Given the description of an element on the screen output the (x, y) to click on. 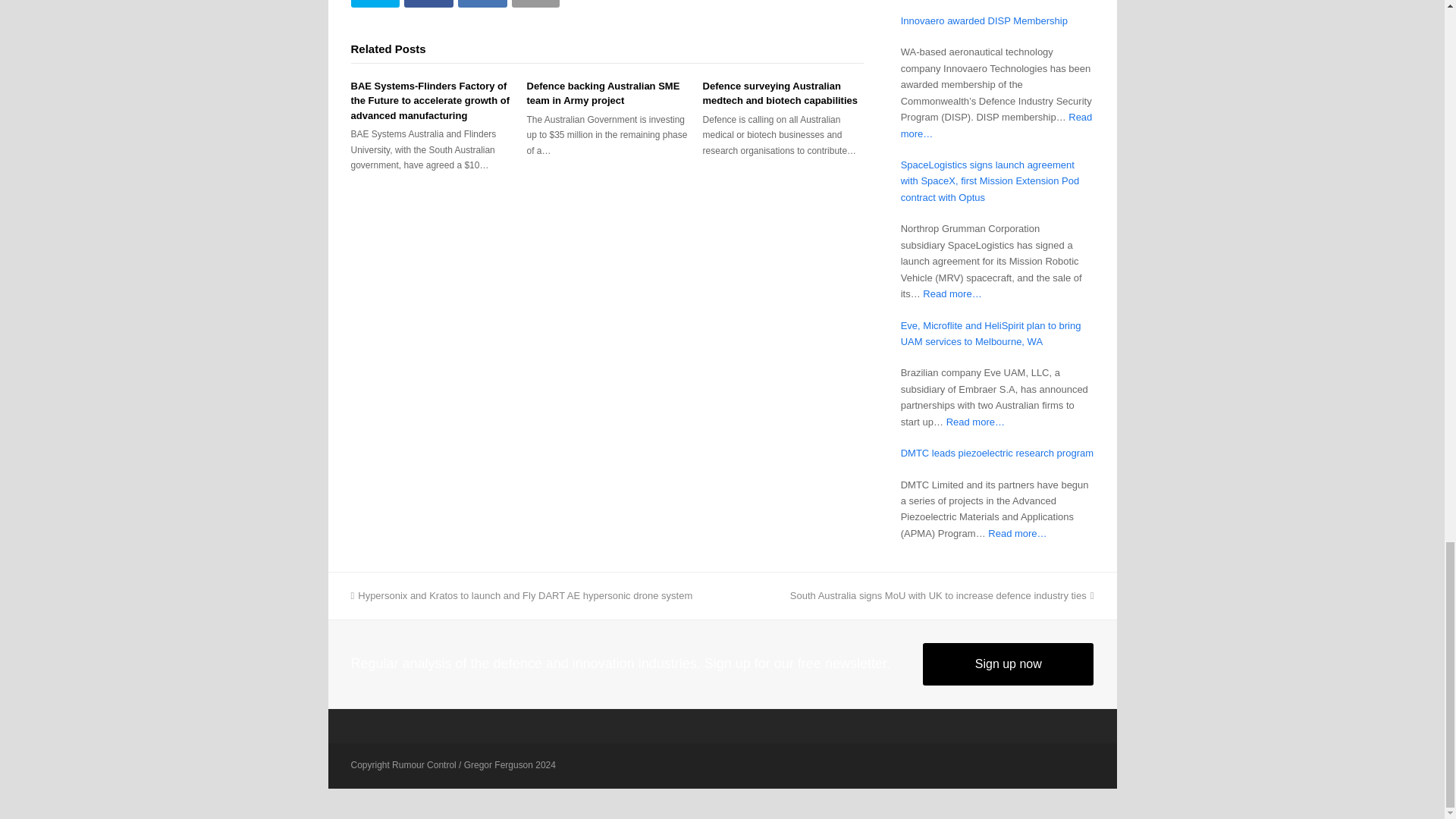
Defence backing Australian SME team in Army project (603, 93)
Share (482, 3)
Email (535, 3)
Share (428, 3)
Tweet (374, 3)
